Given the description of an element on the screen output the (x, y) to click on. 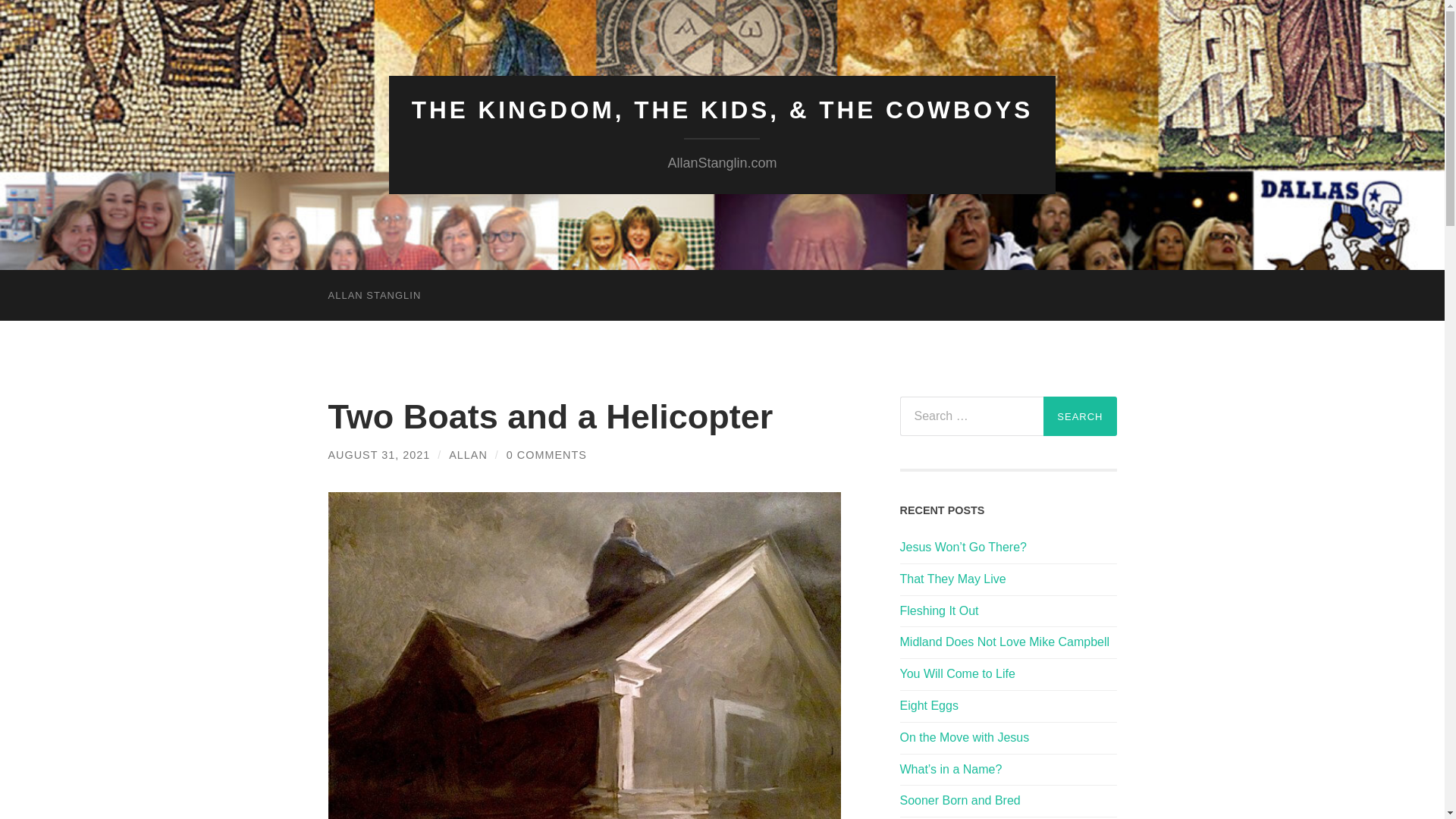
Posts by Allan (467, 454)
You Will Come to Life (1007, 674)
AUGUST 31, 2021 (378, 454)
On the Move with Jesus (1007, 738)
0 COMMENTS (546, 454)
ALLAN STANGLIN (374, 295)
Midland Does Not Love Mike Campbell (1007, 642)
Search (1079, 415)
Search (1079, 415)
Search (1079, 415)
